Given the description of an element on the screen output the (x, y) to click on. 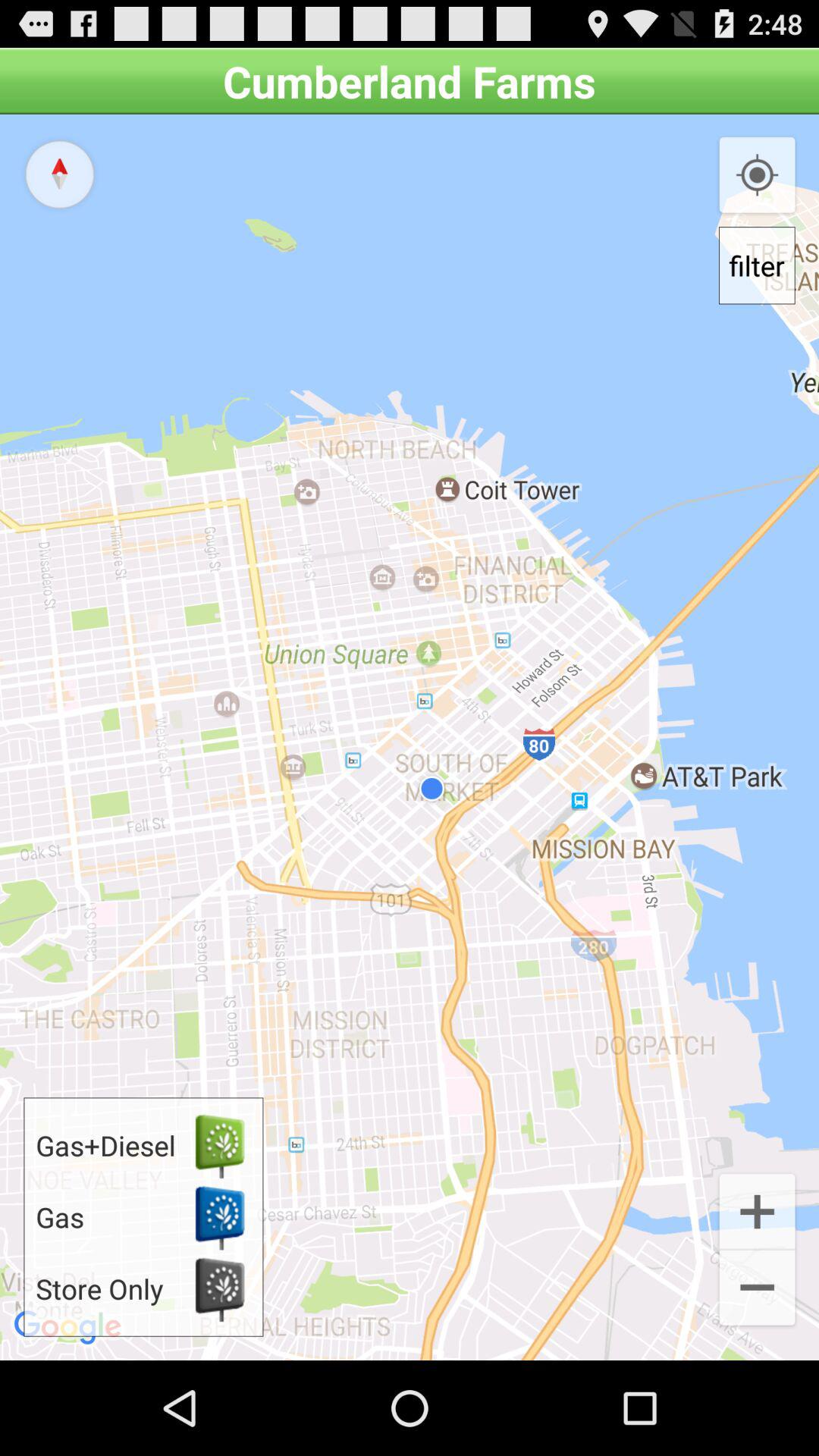
turn on icon at the center (409, 737)
